Given the description of an element on the screen output the (x, y) to click on. 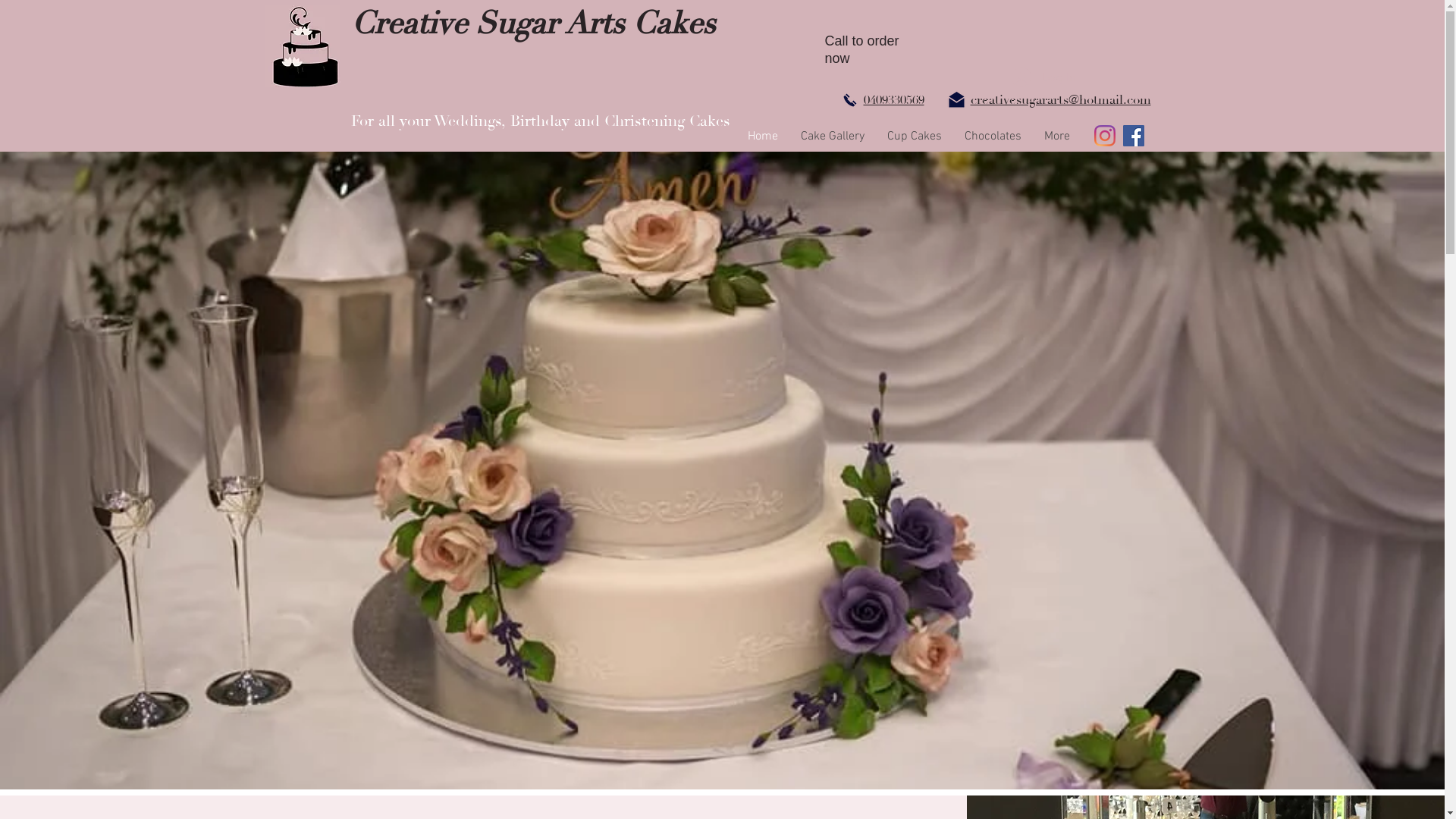
Log In Element type: text (1043, 76)
0409330569 Element type: text (892, 99)
For all your Weddings, Birthday and Christening Cakes Element type: text (539, 121)
Chocolates Element type: text (992, 136)
creativesugararts@hotmail.com Element type: text (1060, 99)
Cup Cakes Element type: text (913, 136)
Home Element type: text (761, 136)
